Given the description of an element on the screen output the (x, y) to click on. 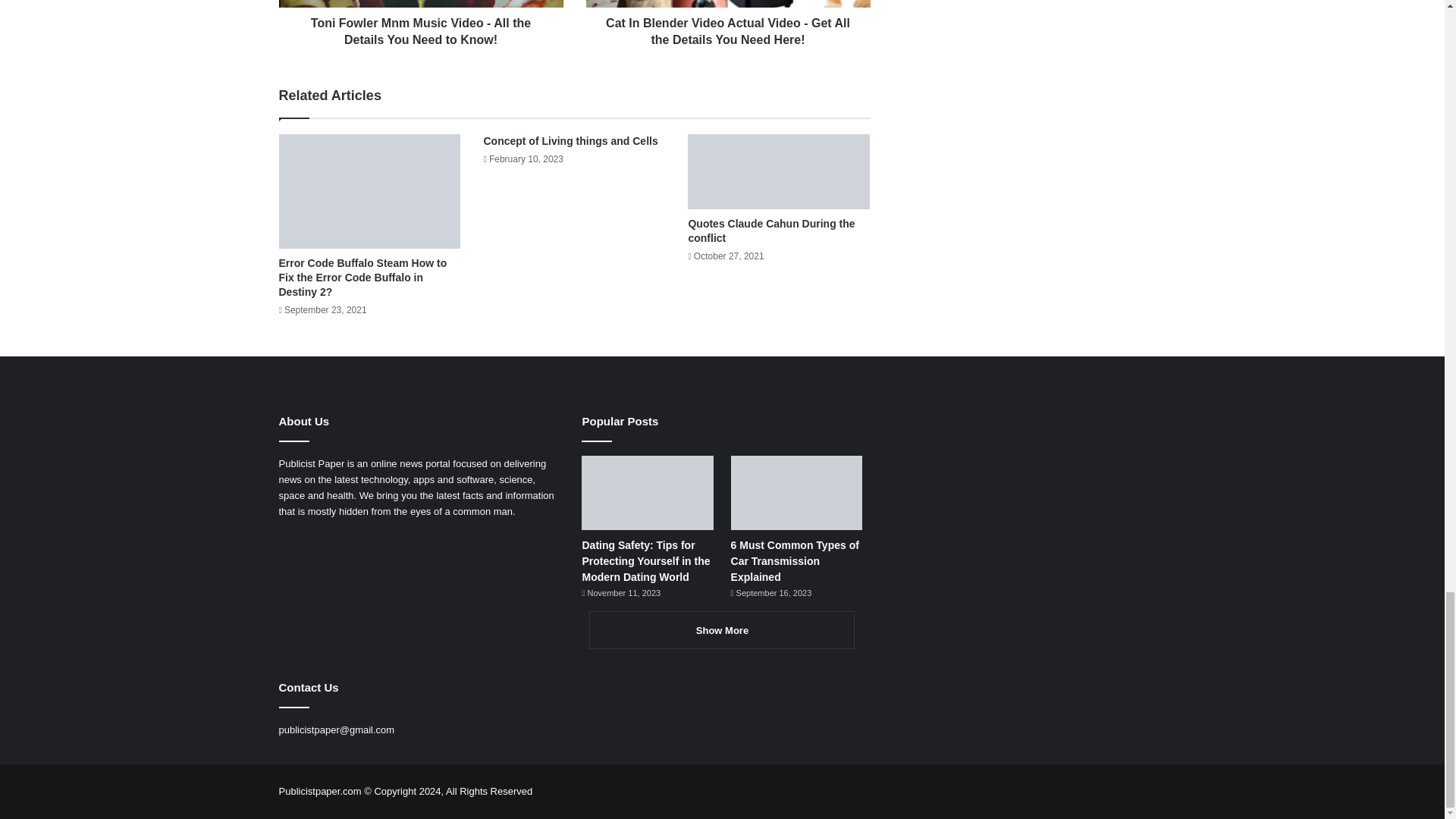
Concept of Living things and Cells (570, 141)
